Given the description of an element on the screen output the (x, y) to click on. 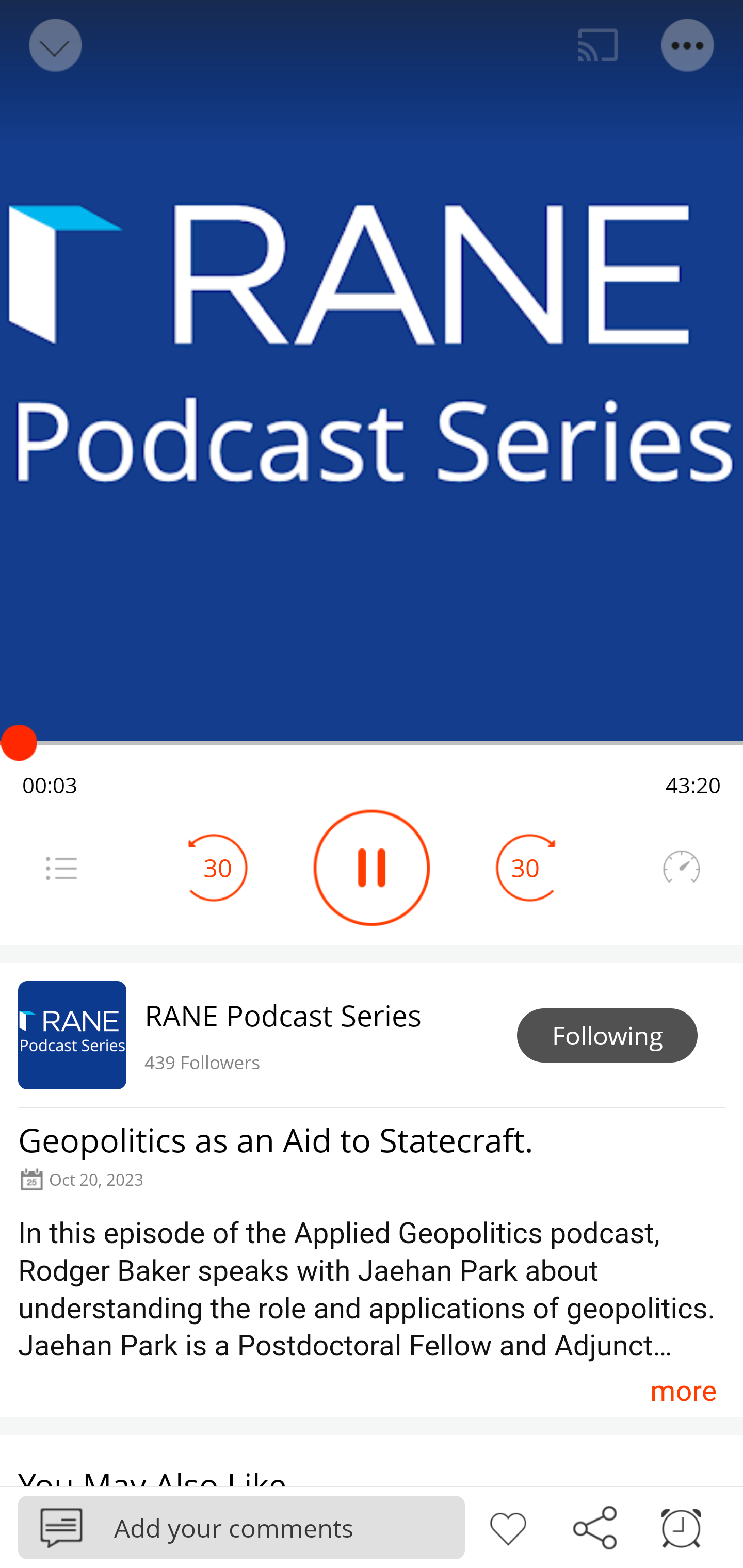
Back (53, 45)
Cast. Disconnected (597, 45)
Menu (688, 45)
Play (371, 867)
30 Seek Backward (217, 867)
30 Seek Forward (525, 867)
Menu (60, 867)
Speedometer (681, 867)
RANE Podcast Series 439 Followers Following (371, 1034)
Following (607, 1035)
more (682, 1390)
Like (508, 1526)
Share (594, 1526)
Sleep timer (681, 1526)
Podbean Add your comments (241, 1526)
